Given the description of an element on the screen output the (x, y) to click on. 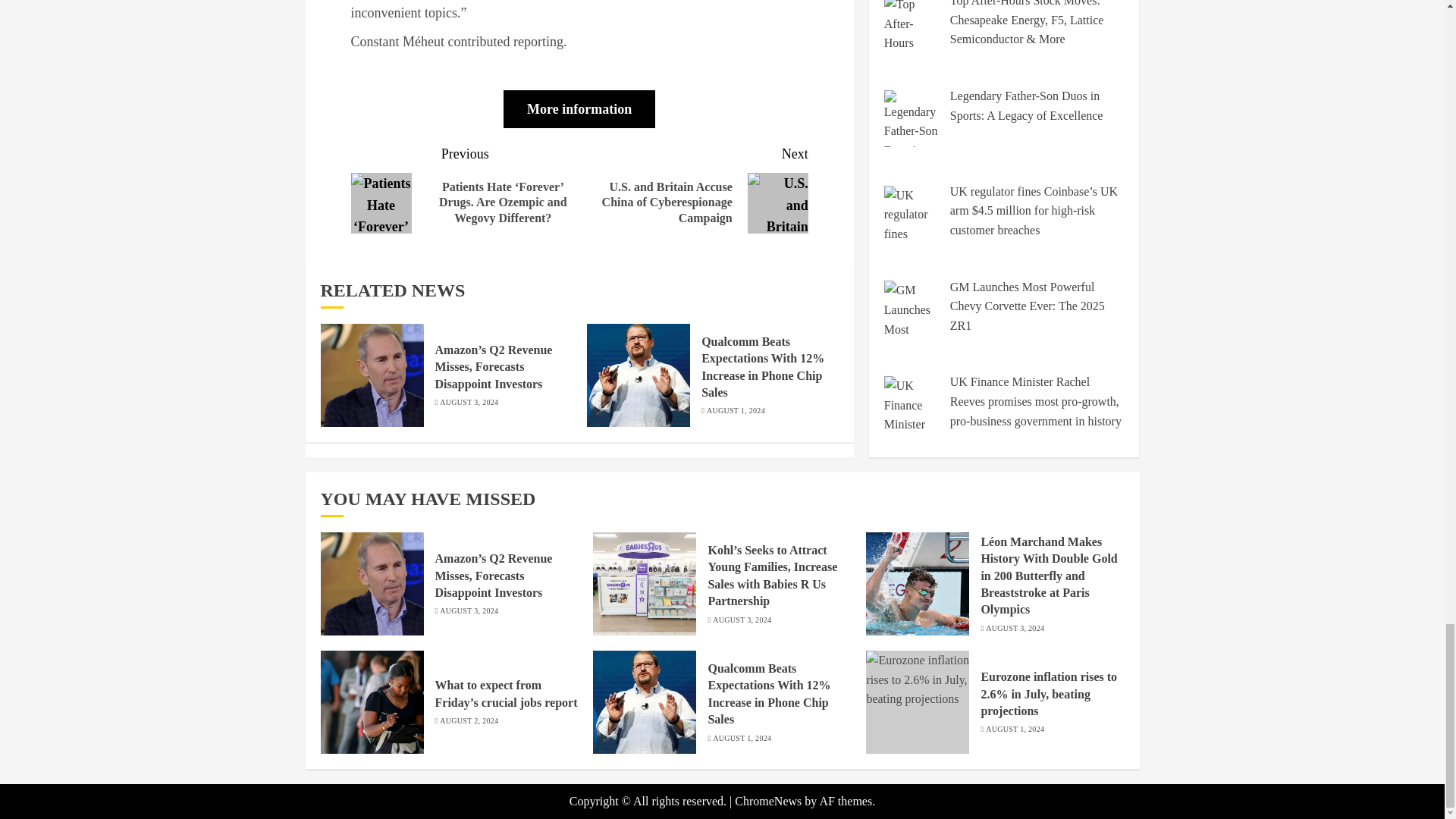
AUGUST 1, 2024 (735, 410)
More information (579, 108)
U.S. and Britain Accuse China of Cyberespionage Campaign (778, 202)
AUGUST 3, 2024 (468, 402)
